Given the description of an element on the screen output the (x, y) to click on. 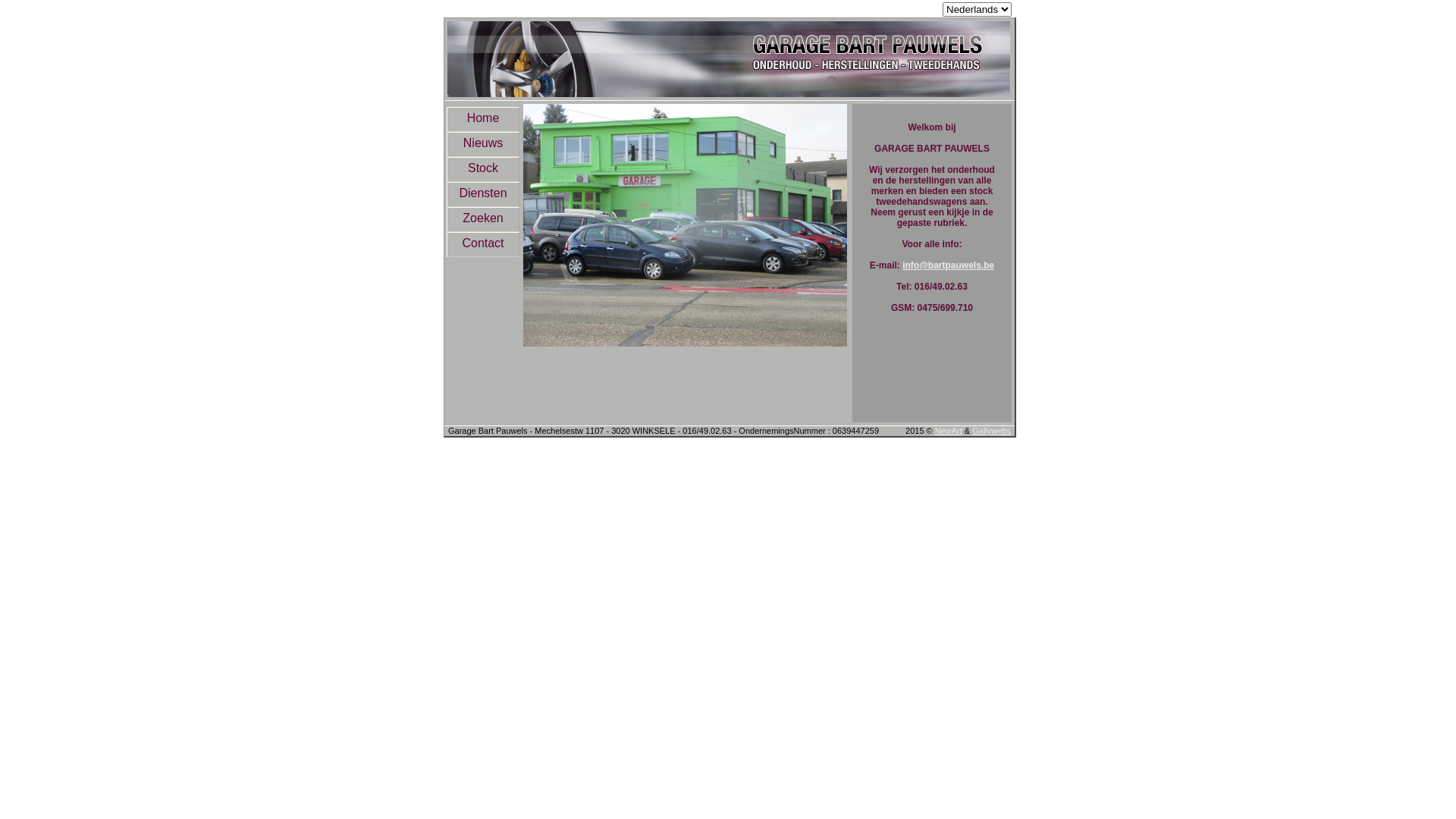
Diensten Element type: text (482, 194)
Nieuws Element type: text (482, 143)
Contact Element type: text (482, 244)
Home Element type: text (482, 118)
NewArt Element type: text (948, 430)
Zoeken Element type: text (482, 219)
Stock Element type: text (482, 169)
Gallywebs Element type: text (991, 430)
info@bartpauwels.be Element type: text (948, 265)
